Given the description of an element on the screen output the (x, y) to click on. 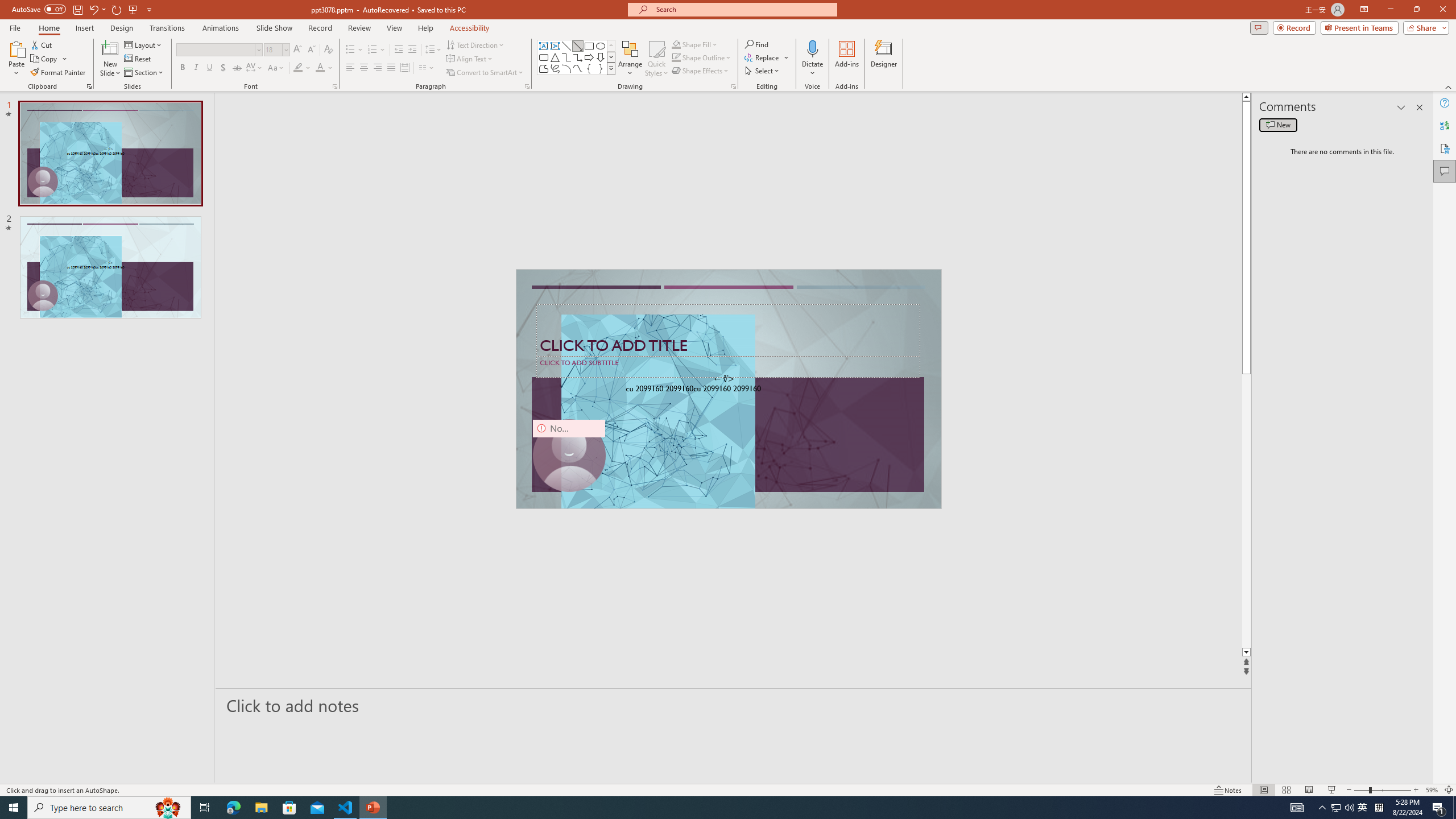
Camera 9, No camera detected. (568, 455)
